Given the description of an element on the screen output the (x, y) to click on. 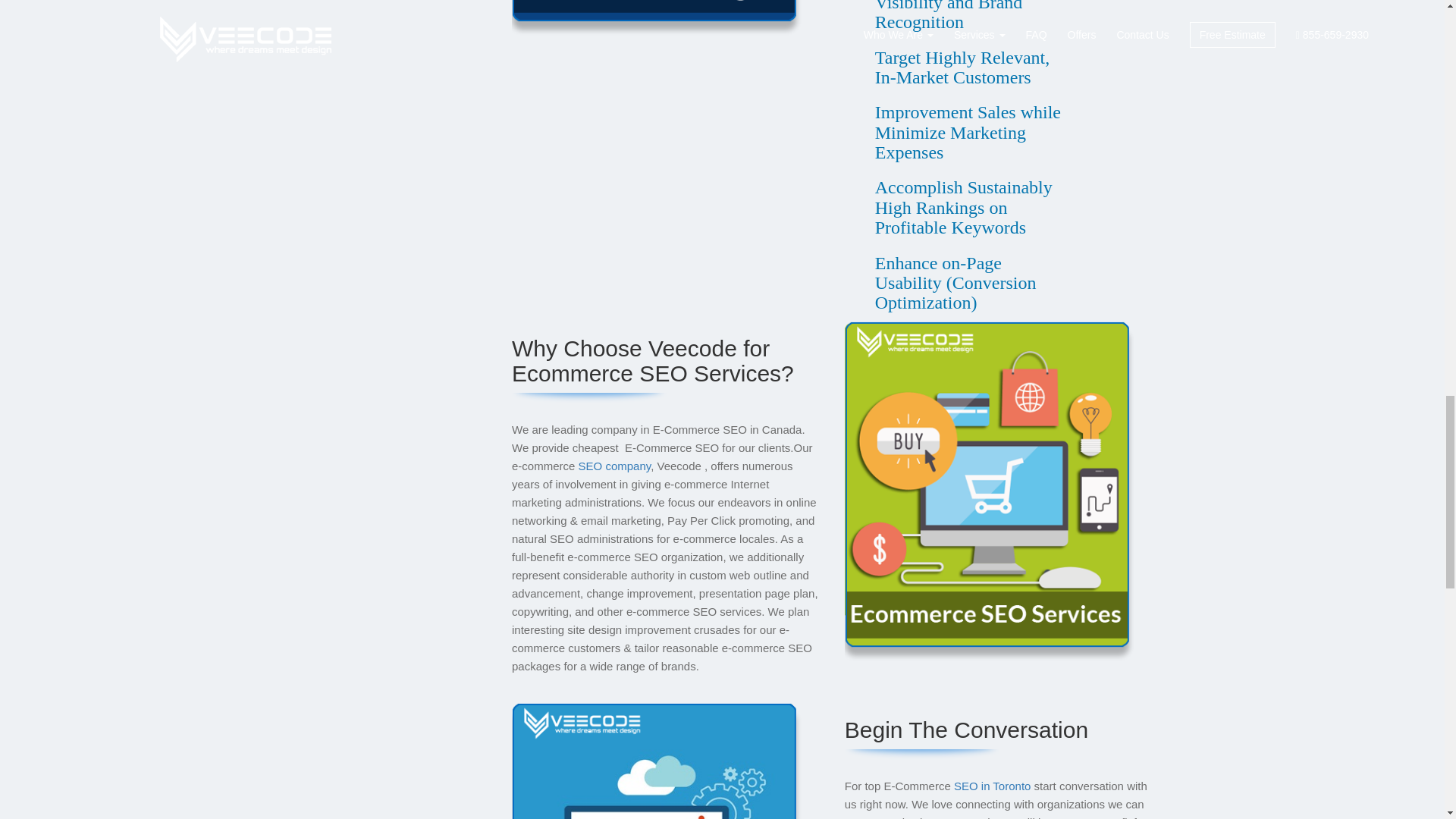
SEO company (614, 465)
